Given the description of an element on the screen output the (x, y) to click on. 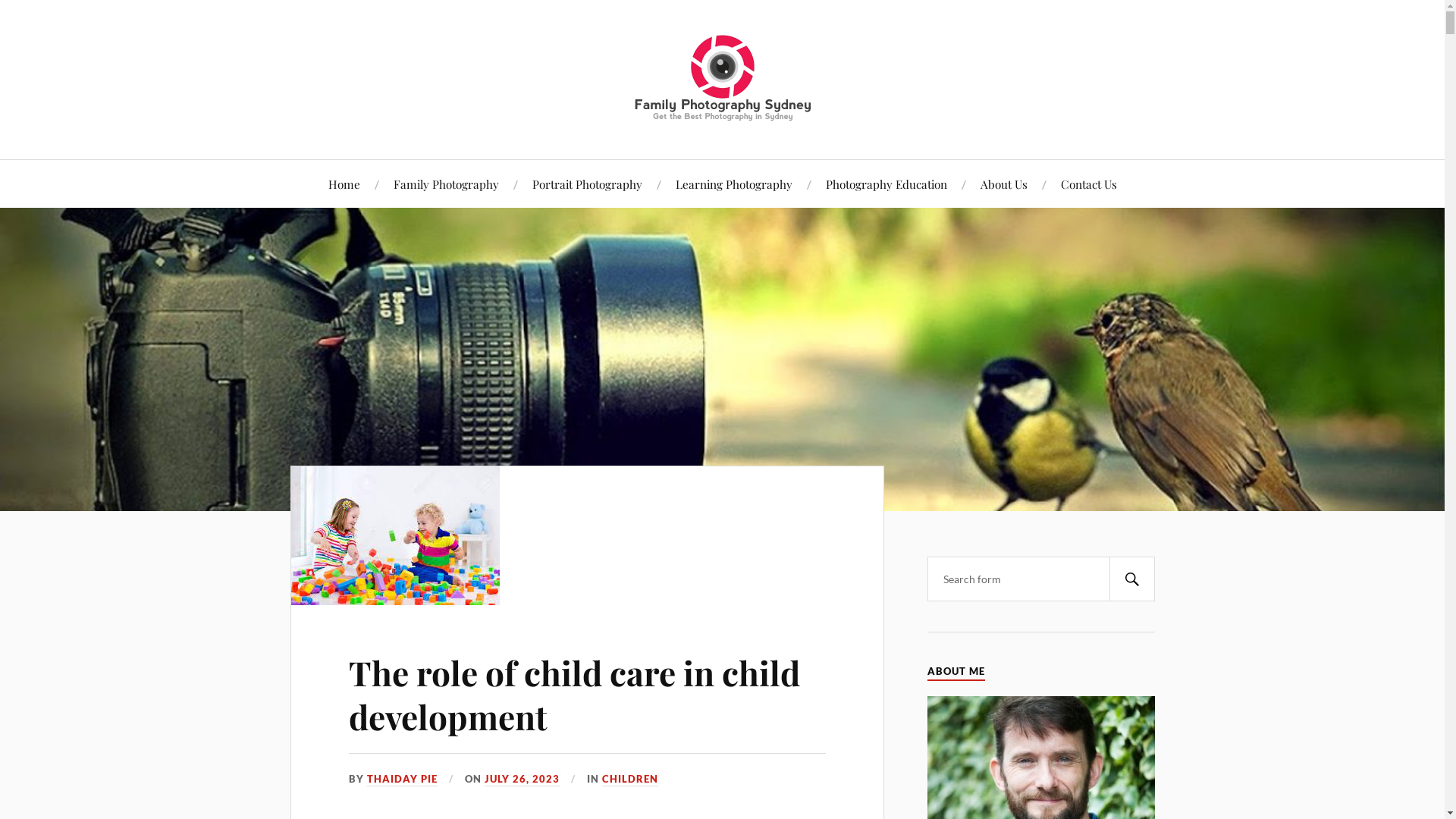
Learning Photography Element type: text (732, 183)
Photography Education Element type: text (885, 183)
Home Element type: text (343, 183)
The role of child care in child development Element type: hover (587, 535)
Contact Us Element type: text (1088, 183)
The role of child care in child development Element type: text (574, 693)
THAIDAY PIE Element type: text (402, 779)
Portrait Photography Element type: text (587, 183)
JULY 26, 2023 Element type: text (521, 779)
About Us Element type: text (1002, 183)
CHILDREN Element type: text (630, 779)
Family Photography Element type: text (445, 183)
